Given the description of an element on the screen output the (x, y) to click on. 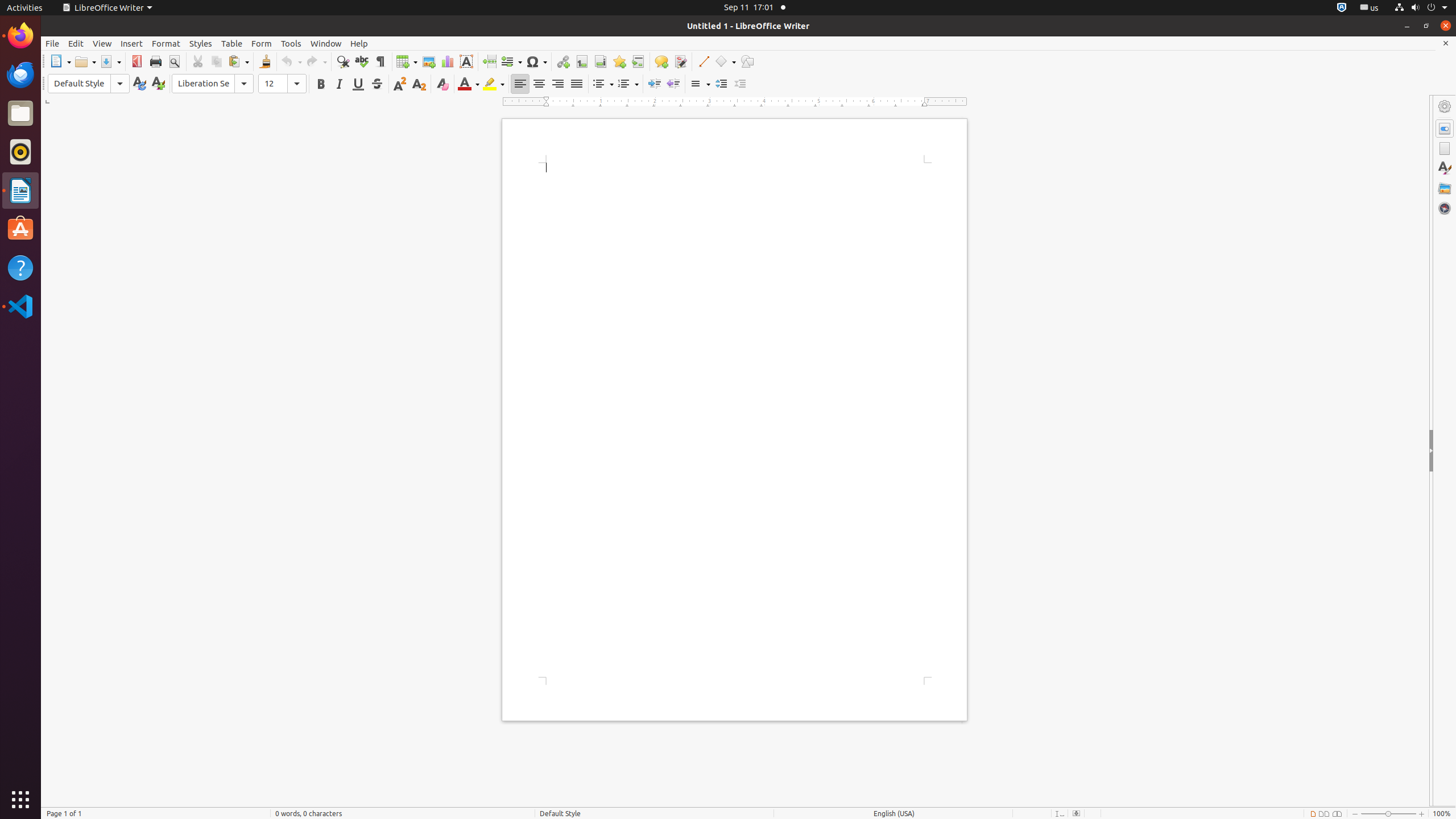
Paragraph Style Element type: panel (88, 83)
Bullets Element type: push-button (602, 83)
File Element type: menu (51, 43)
Clone Element type: push-button (264, 61)
Styles Element type: menu (200, 43)
